Given the description of an element on the screen output the (x, y) to click on. 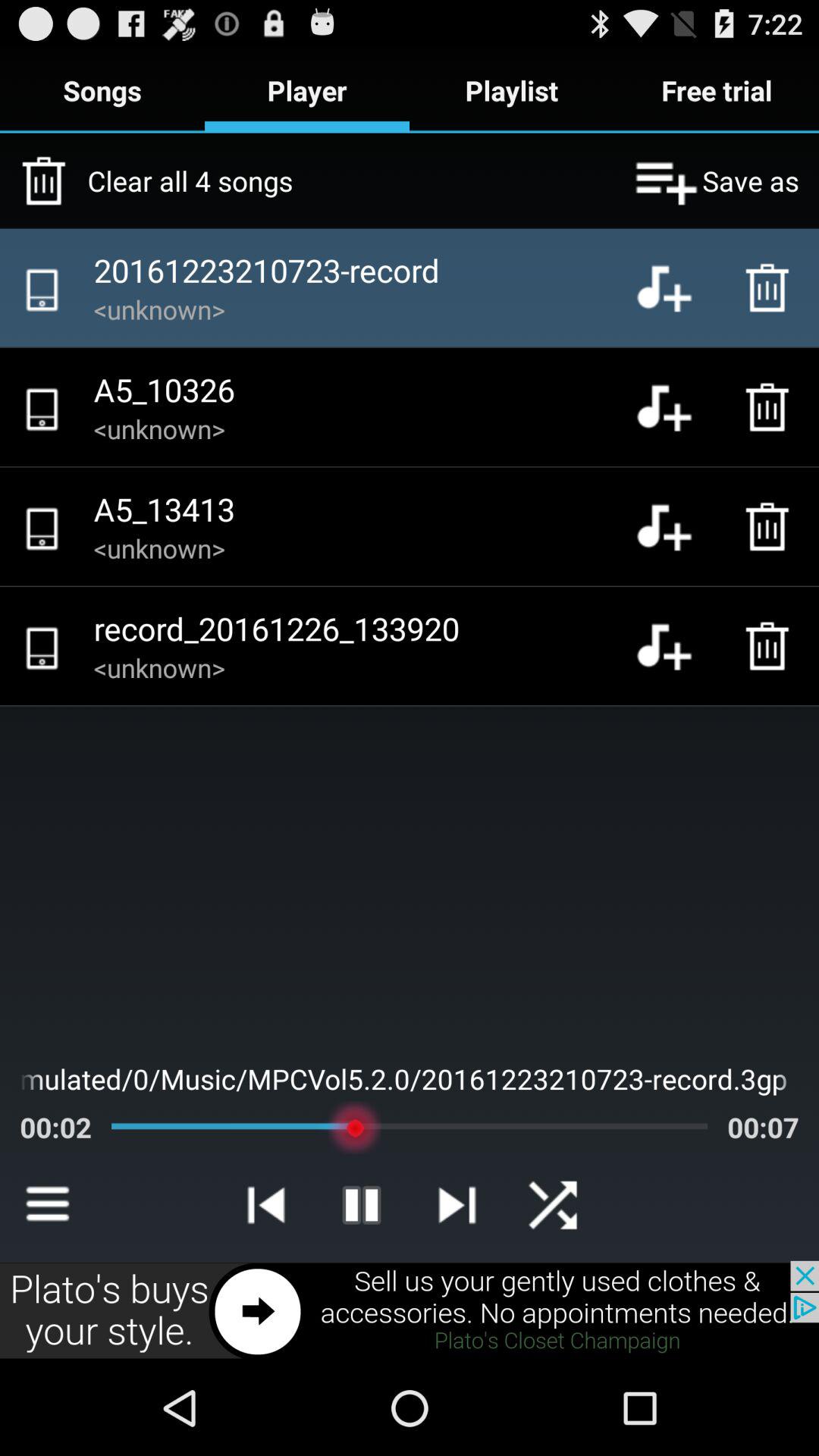
delete (771, 407)
